Given the description of an element on the screen output the (x, y) to click on. 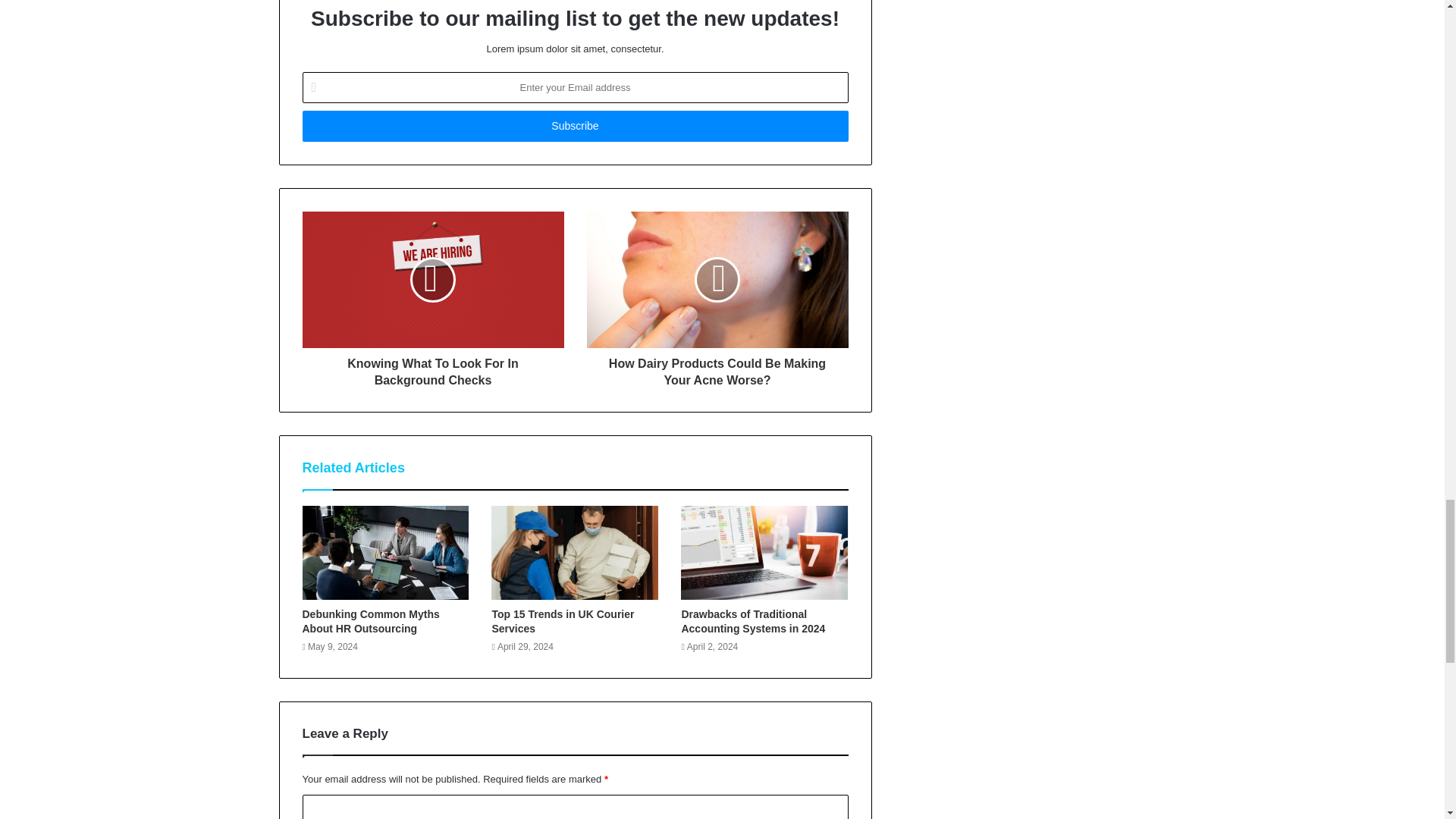
Subscribe (574, 125)
